Given the description of an element on the screen output the (x, y) to click on. 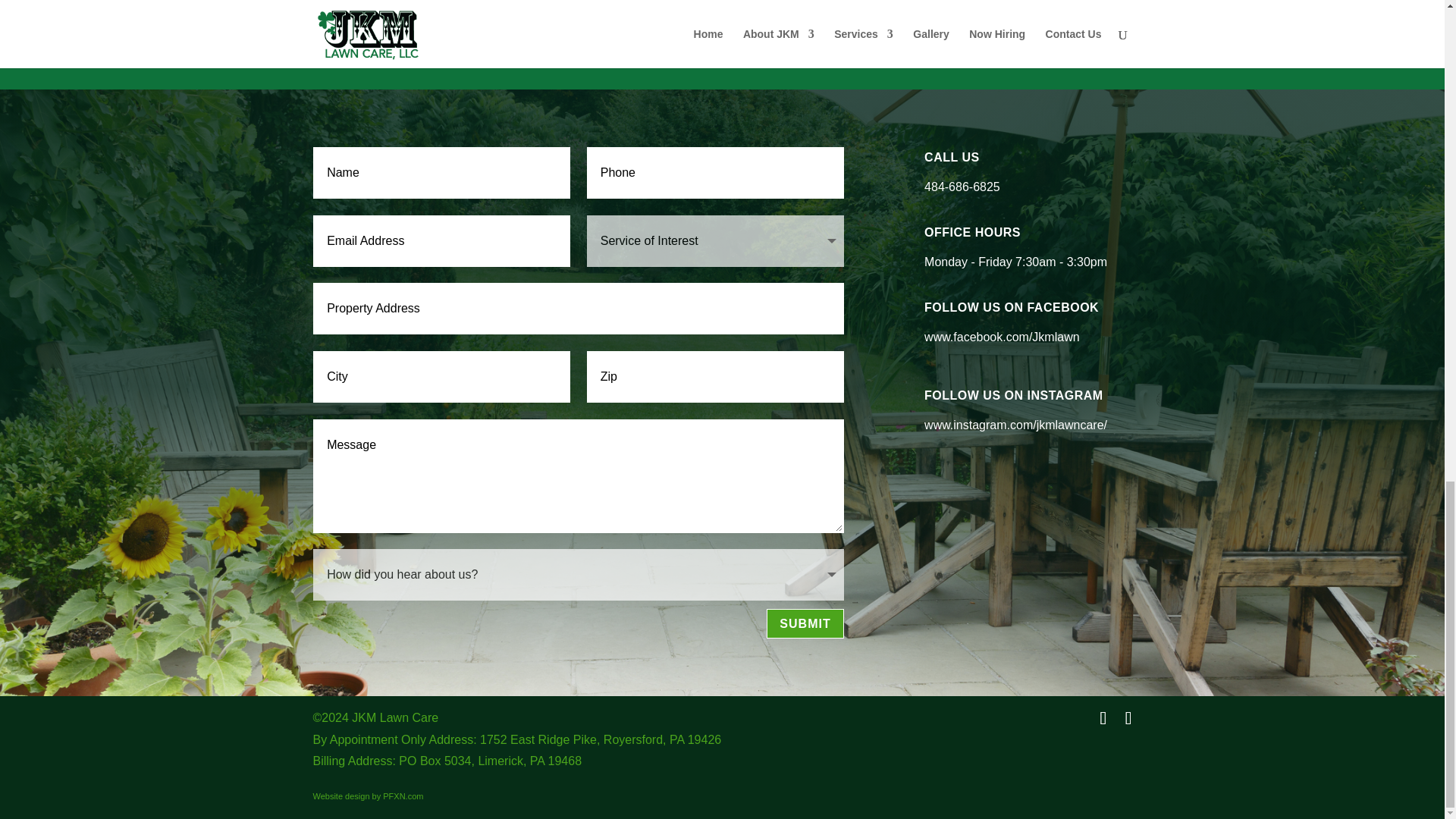
SUBMIT (805, 623)
